Given the description of an element on the screen output the (x, y) to click on. 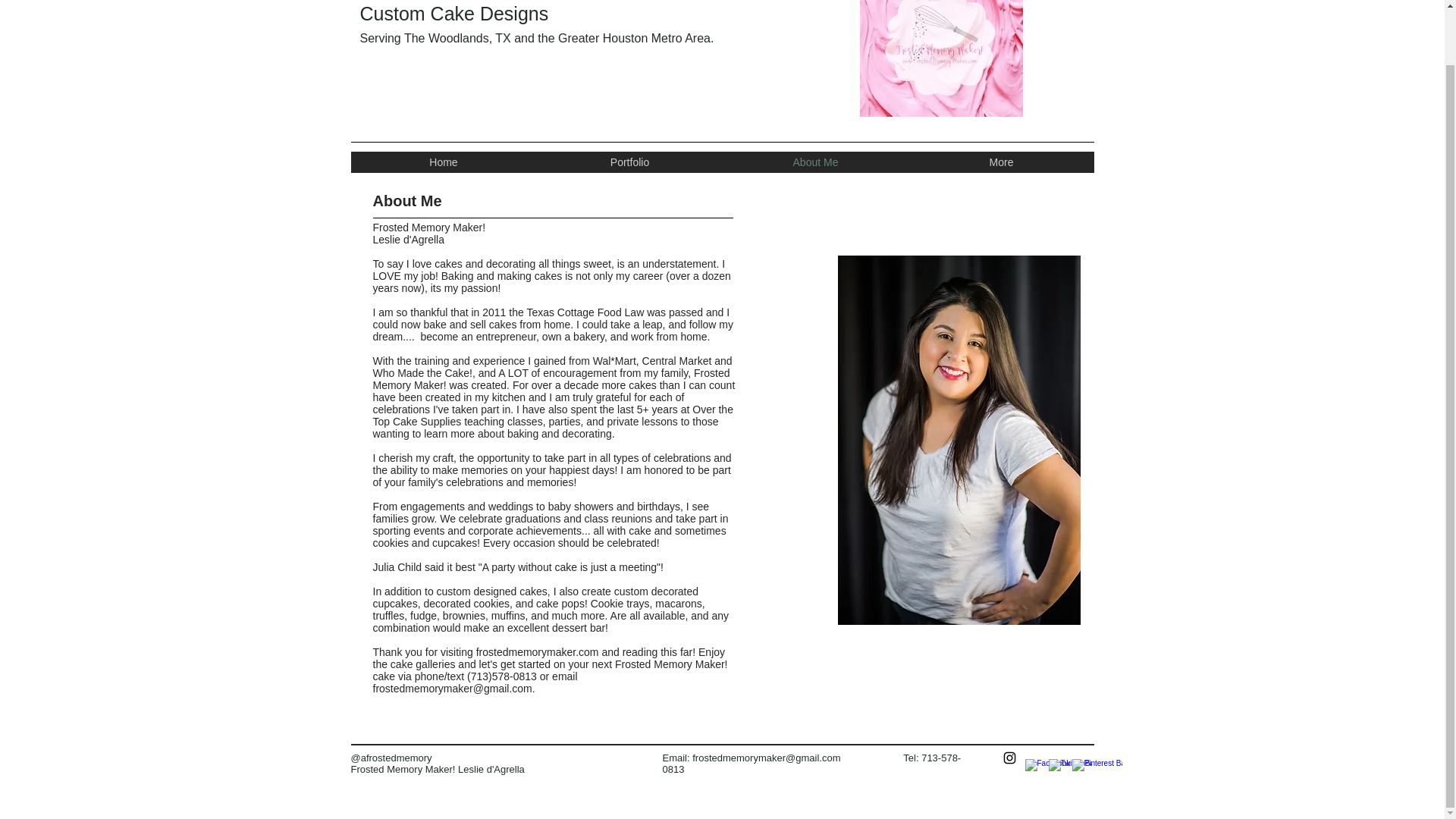
Portfolio (629, 161)
About Me (814, 161)
Home (442, 161)
